Given the description of an element on the screen output the (x, y) to click on. 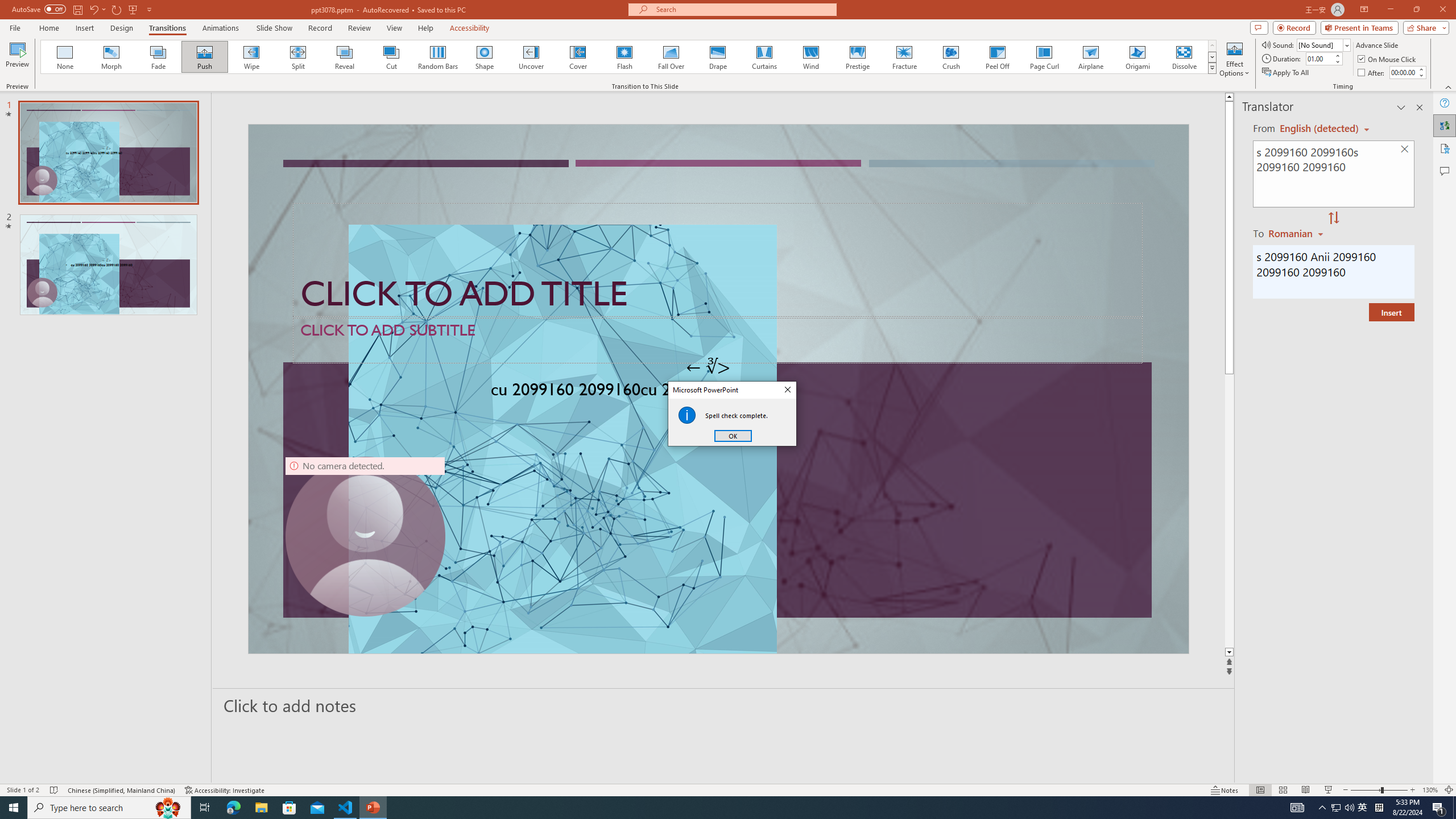
Origami (1136, 56)
Clear text (1404, 149)
AutomationID: AnimationTransitionGallery (628, 56)
Uncover (531, 56)
Fracture (903, 56)
After (1372, 72)
